Given the description of an element on the screen output the (x, y) to click on. 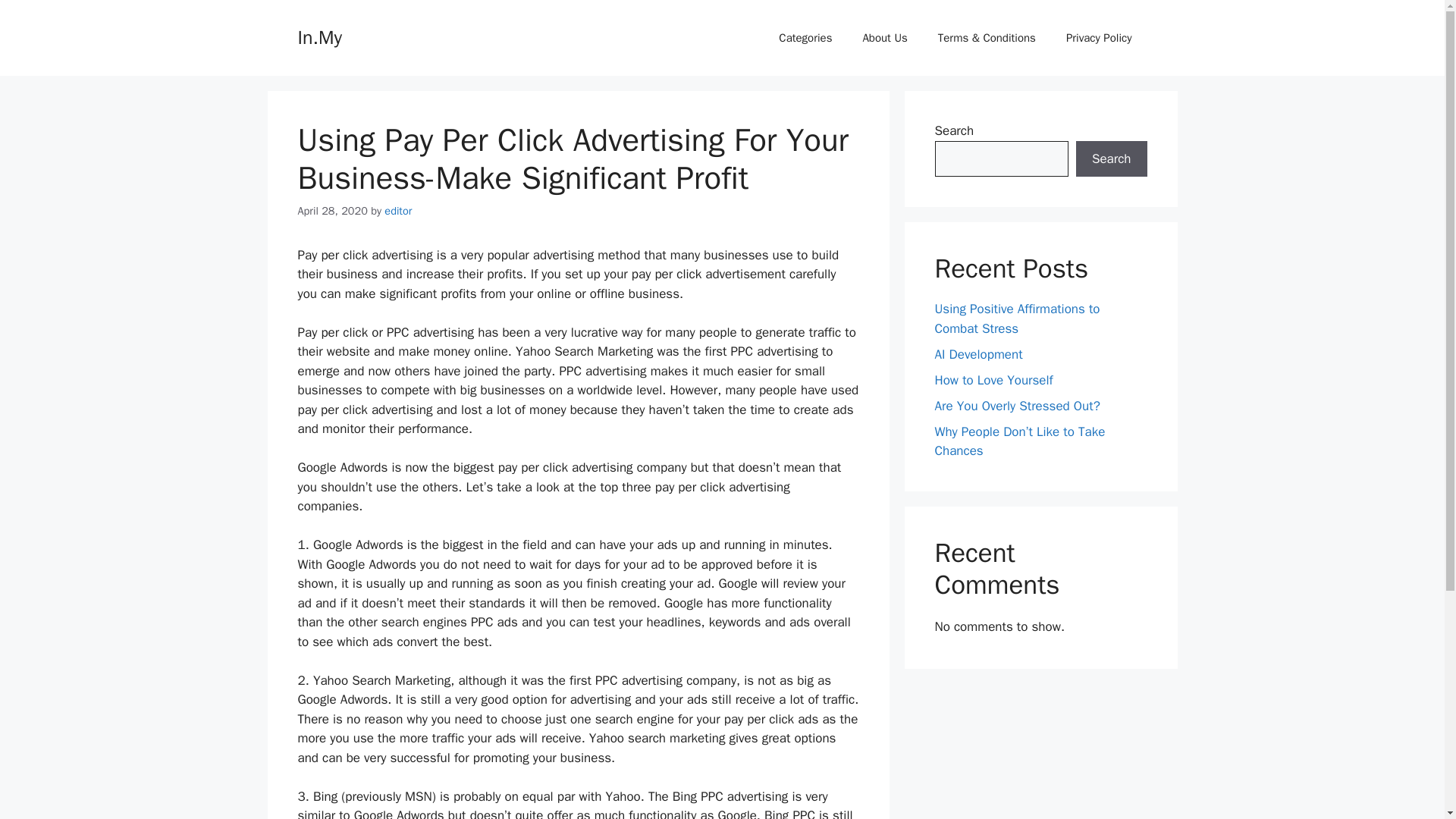
How to Love Yourself (993, 379)
Are You Overly Stressed Out? (1016, 405)
Using Positive Affirmations to Combat Stress (1016, 318)
Categories (804, 37)
About Us (884, 37)
Privacy Policy (1099, 37)
editor (398, 210)
AI Development (978, 353)
In.My (318, 37)
View all posts by editor (398, 210)
